Given the description of an element on the screen output the (x, y) to click on. 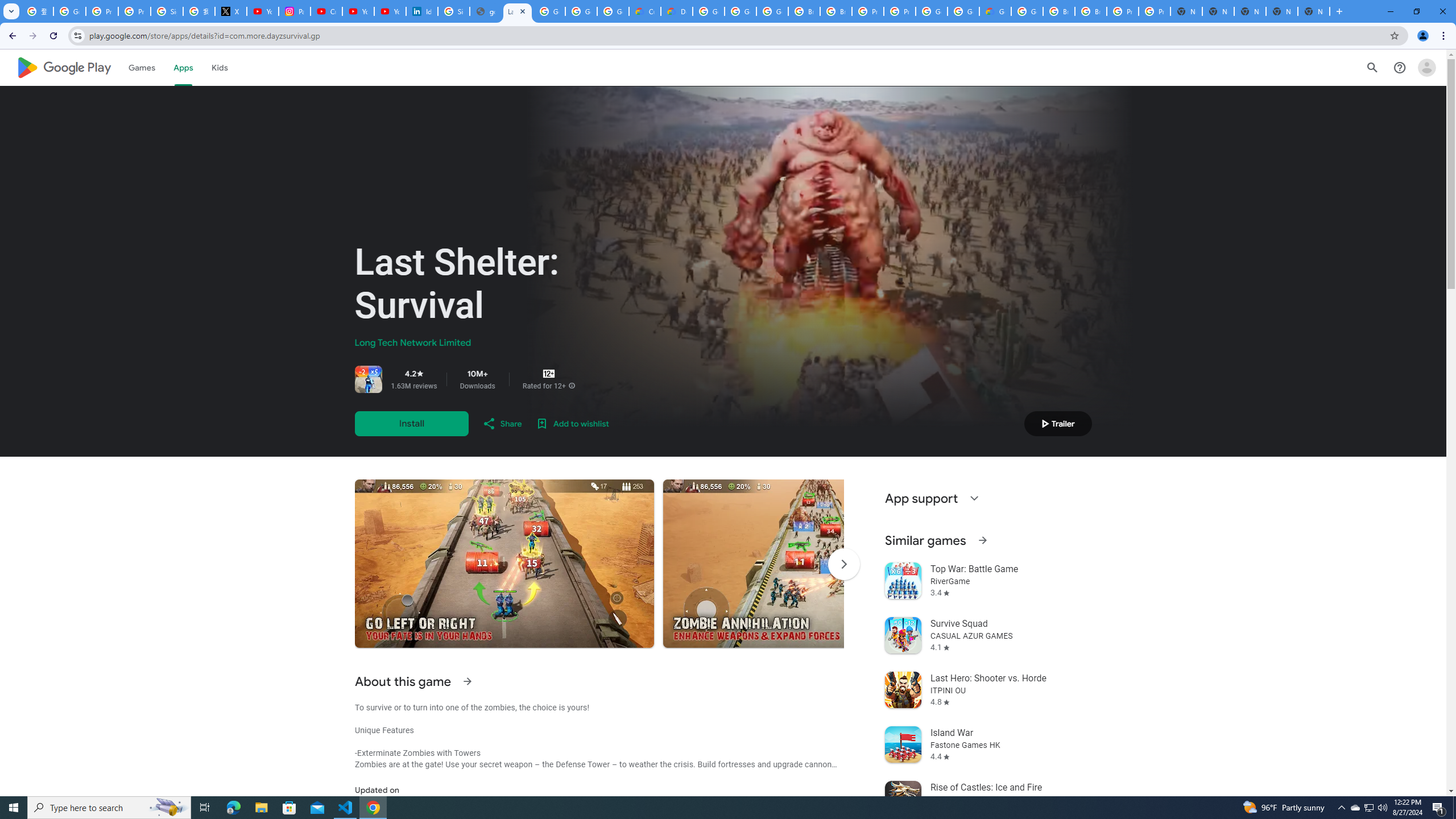
Last Shelter: Survival - Apps on Google Play (517, 11)
Google Play logo (64, 67)
Google Cloud Platform (963, 11)
Content rating (549, 373)
Google Cloud Platform (1027, 11)
Privacy Help Center - Policies Help (101, 11)
More info about this content rating (571, 385)
Expand (973, 497)
See more information on Similar games (981, 539)
Open account menu (1426, 67)
See more information on About this game (466, 681)
Google Workspace - Specific Terms (581, 11)
Long Tech Network Limited (412, 342)
